Given the description of an element on the screen output the (x, y) to click on. 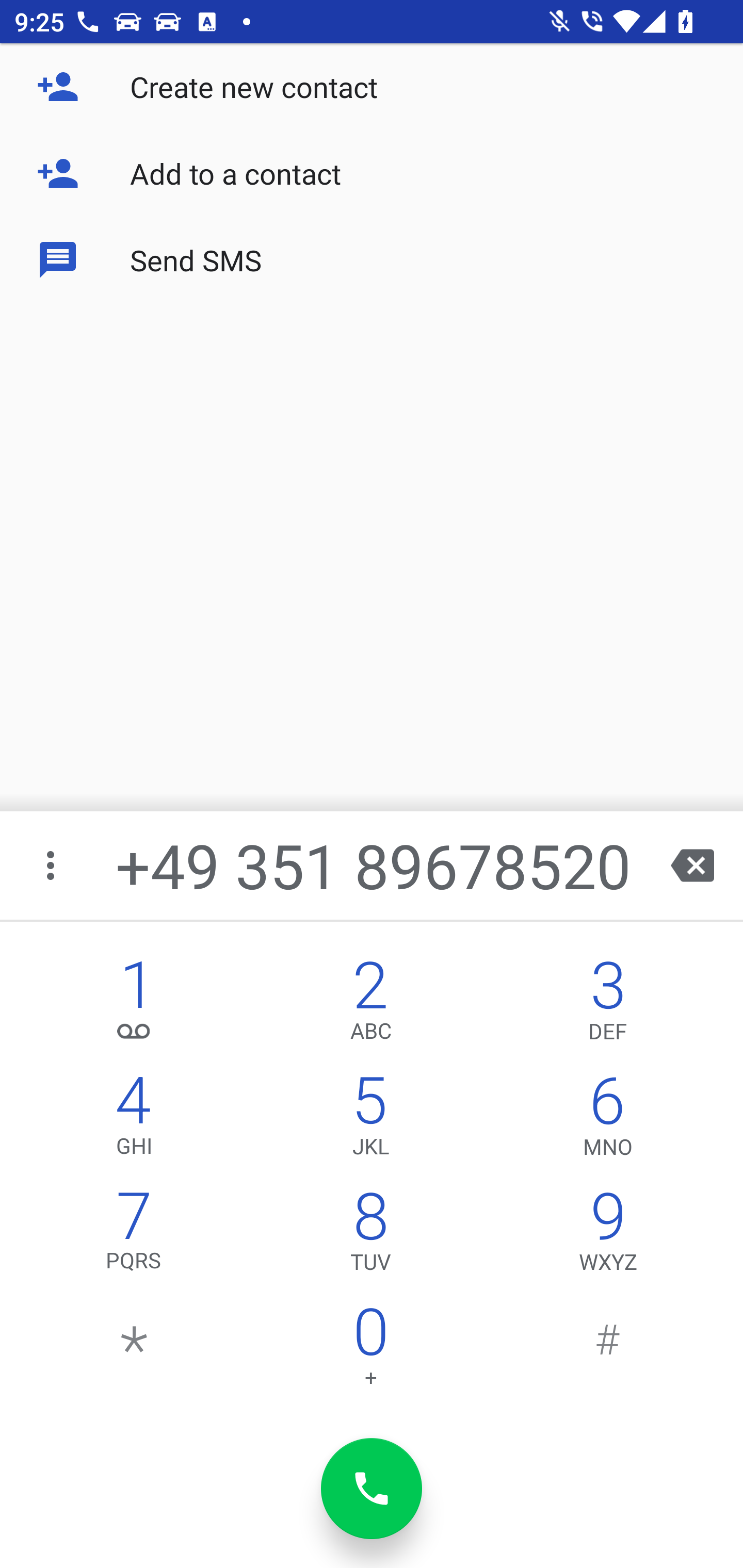
Create new contact (371, 86)
Add to a contact (371, 173)
Send SMS (371, 259)
+49 351 89678520 (372, 865)
backspace (692, 865)
More options (52, 865)
1, 1 (133, 1005)
2,ABC 2 ABC (370, 1005)
3,DEF 3 DEF (607, 1005)
4,GHI 4 GHI (133, 1120)
5,JKL 5 JKL (370, 1120)
6,MNO 6 MNO (607, 1120)
7,PQRS 7 PQRS (133, 1235)
8,TUV 8 TUV (370, 1235)
9,WXYZ 9 WXYZ (607, 1235)
* (133, 1351)
0 0 + (370, 1351)
# (607, 1351)
dial (371, 1488)
